Given the description of an element on the screen output the (x, y) to click on. 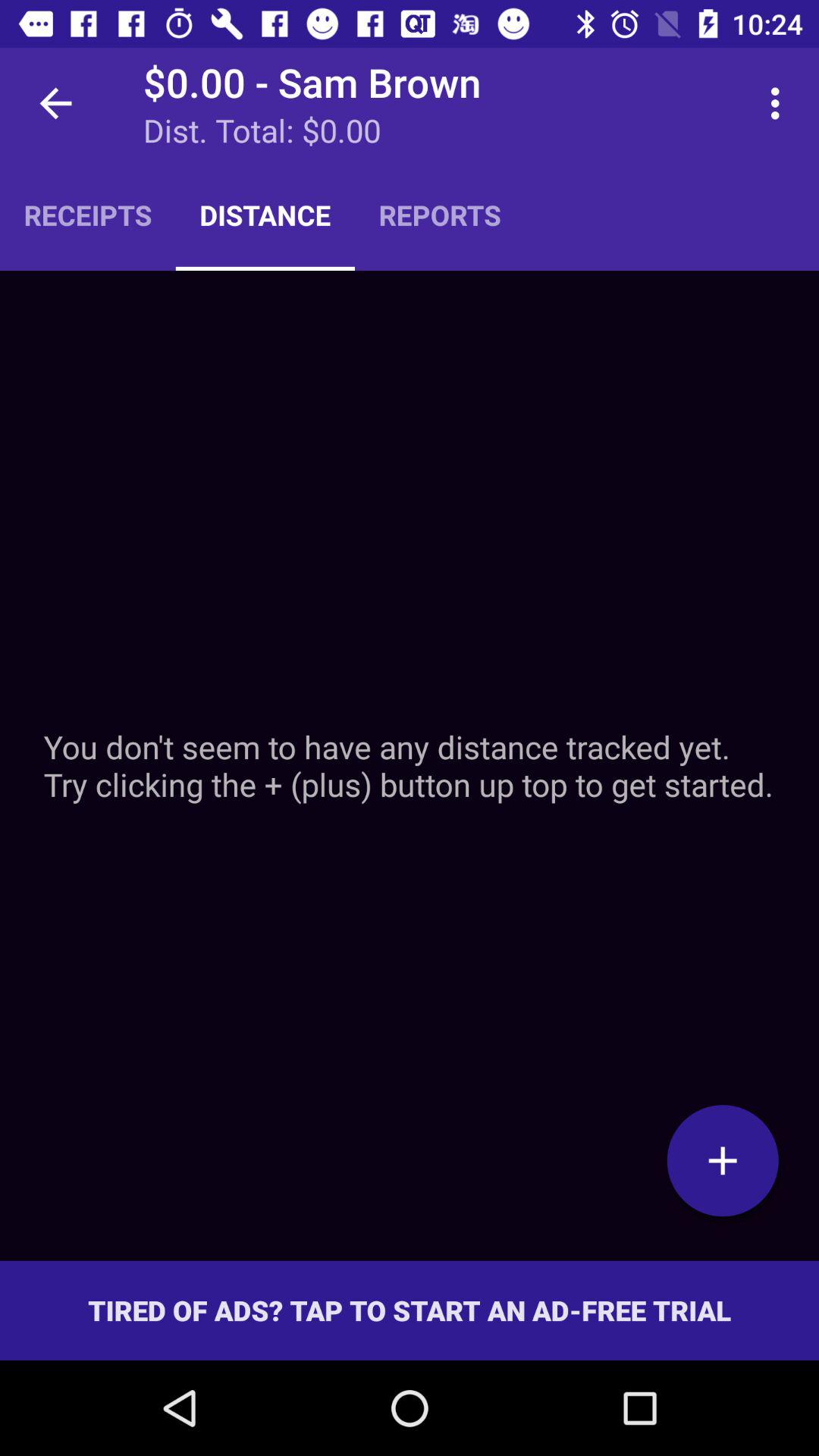
click item above the you don t icon (779, 103)
